Given the description of an element on the screen output the (x, y) to click on. 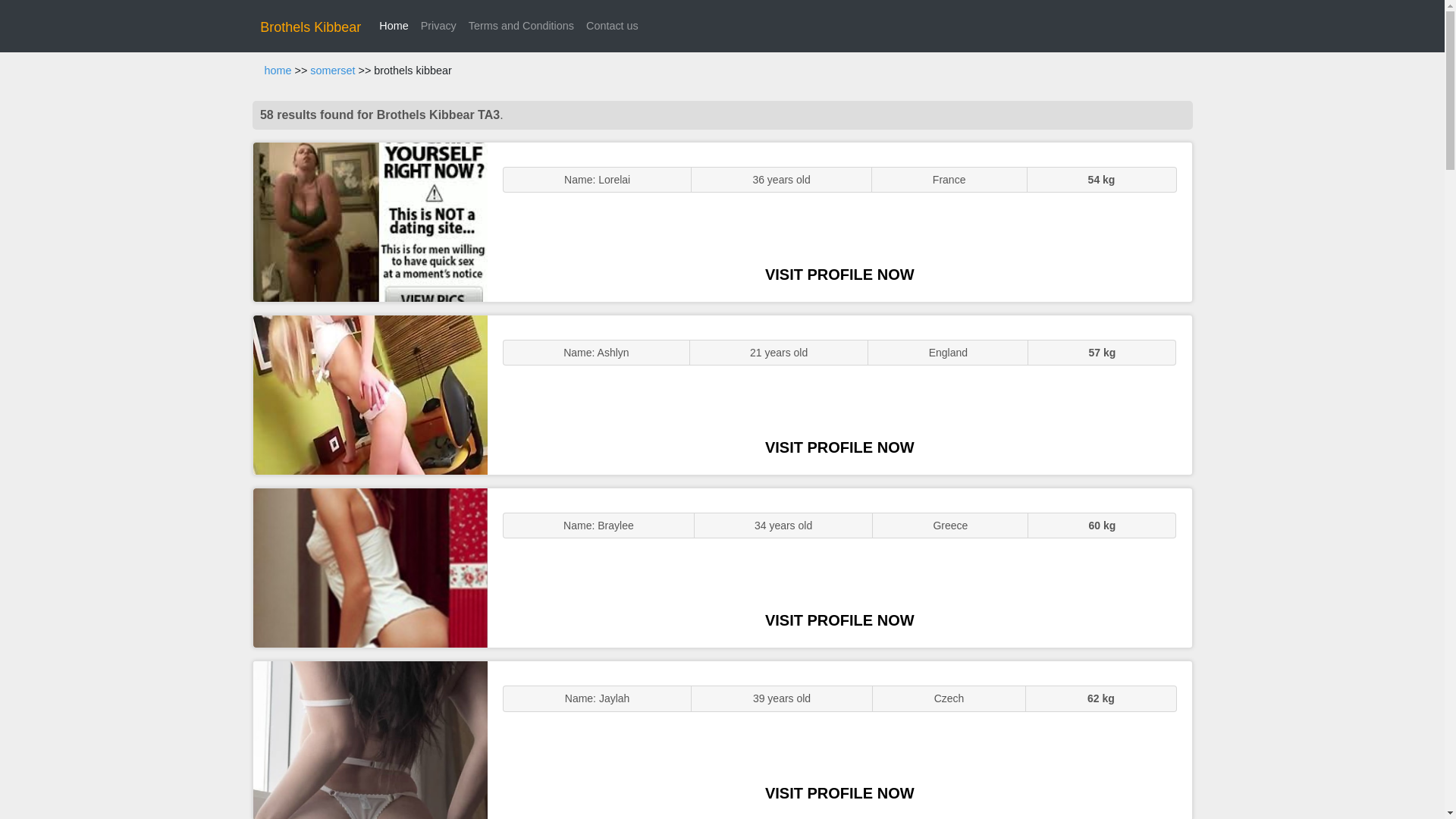
Brothels Kibbear (310, 27)
VISIT PROFILE NOW (839, 619)
VISIT PROFILE NOW (839, 792)
somerset (332, 70)
Privacy (438, 25)
VISIT PROFILE NOW (839, 274)
VISIT PROFILE NOW (839, 446)
Terms and Conditions (521, 25)
Sluts (370, 739)
 ENGLISH STUNNER (370, 222)
GFE (370, 395)
home (277, 70)
Contact us (612, 25)
Sexy (370, 567)
